Given the description of an element on the screen output the (x, y) to click on. 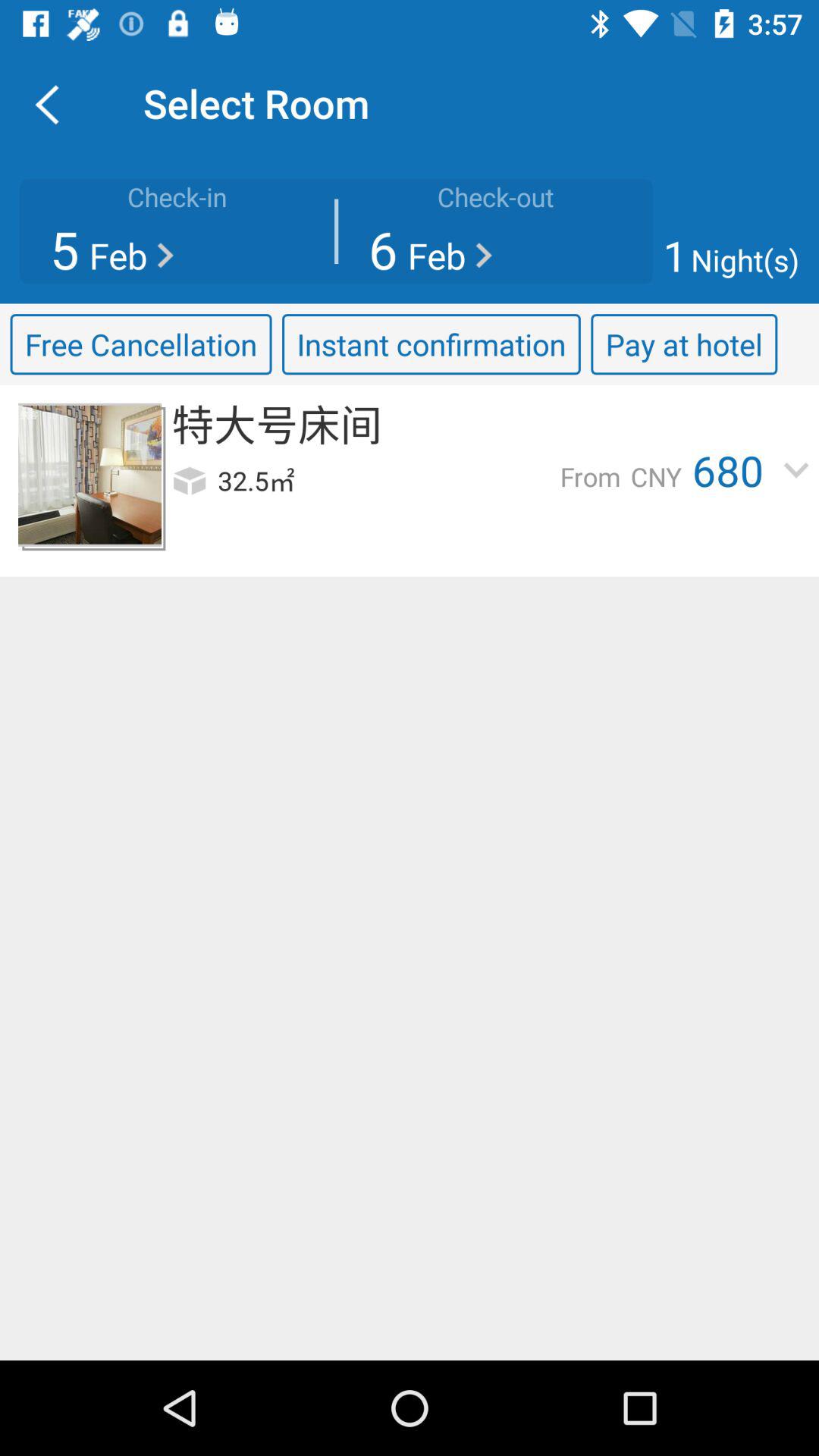
enlarges the item (89, 474)
